Given the description of an element on the screen output the (x, y) to click on. 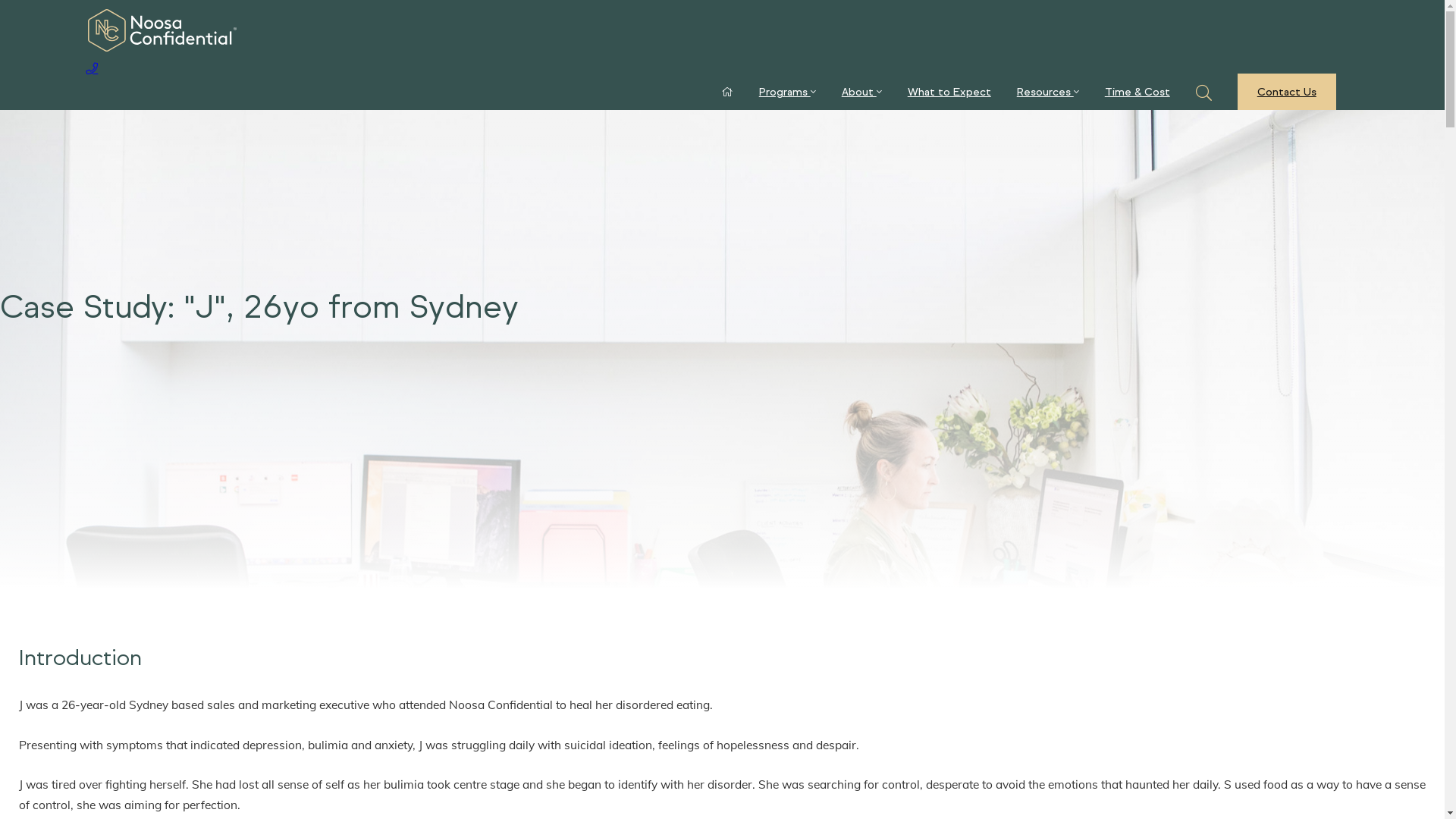
Programs Element type: text (787, 91)
Go Element type: text (200, 137)
Time & Cost Element type: text (1137, 91)
About Element type: text (861, 91)
Contact Us Element type: text (1286, 91)
Resources Element type: text (1047, 91)
What to Expect Element type: text (949, 91)
